Given the description of an element on the screen output the (x, y) to click on. 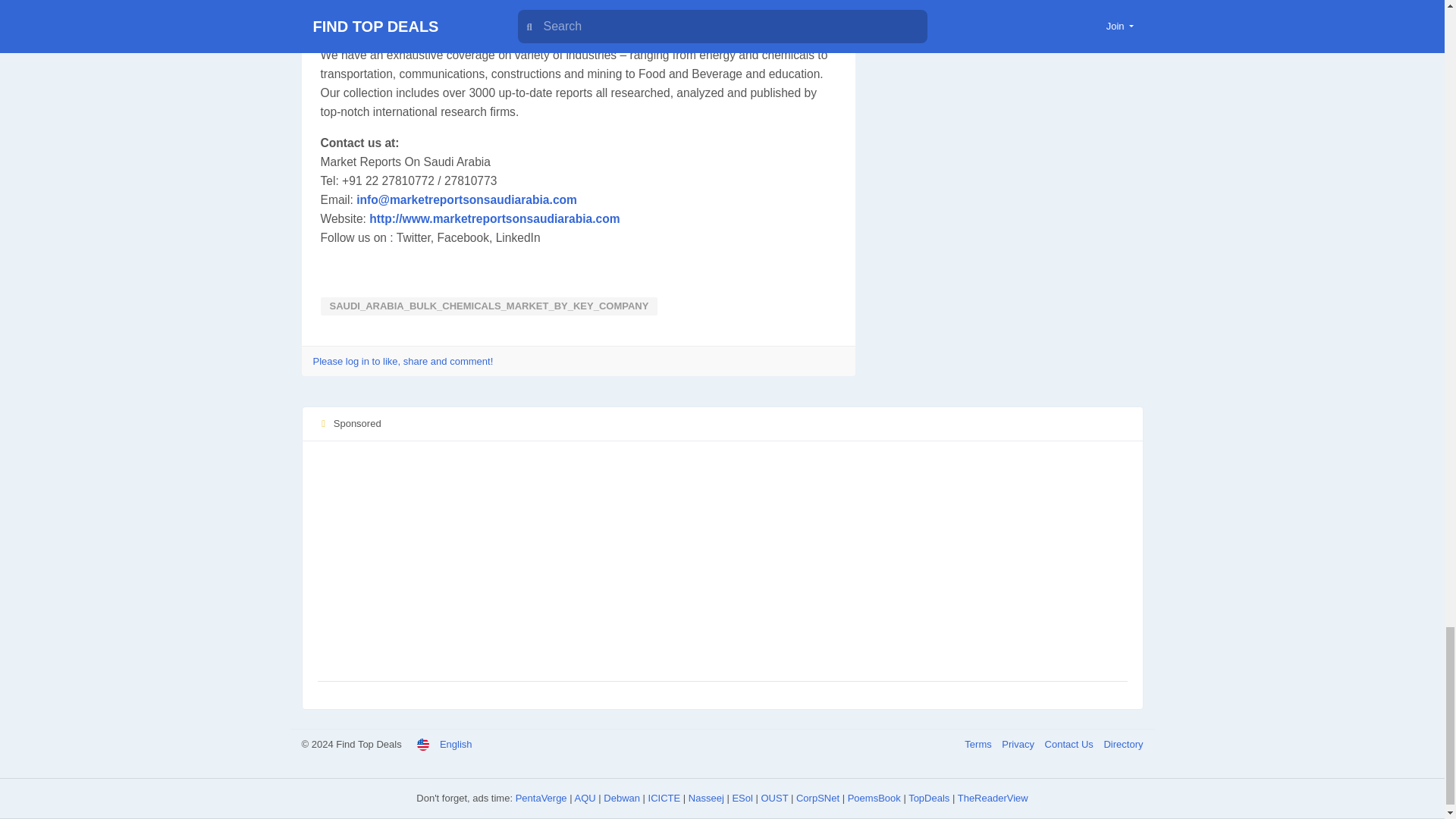
Please log in to like, share and comment! (403, 360)
